Given the description of an element on the screen output the (x, y) to click on. 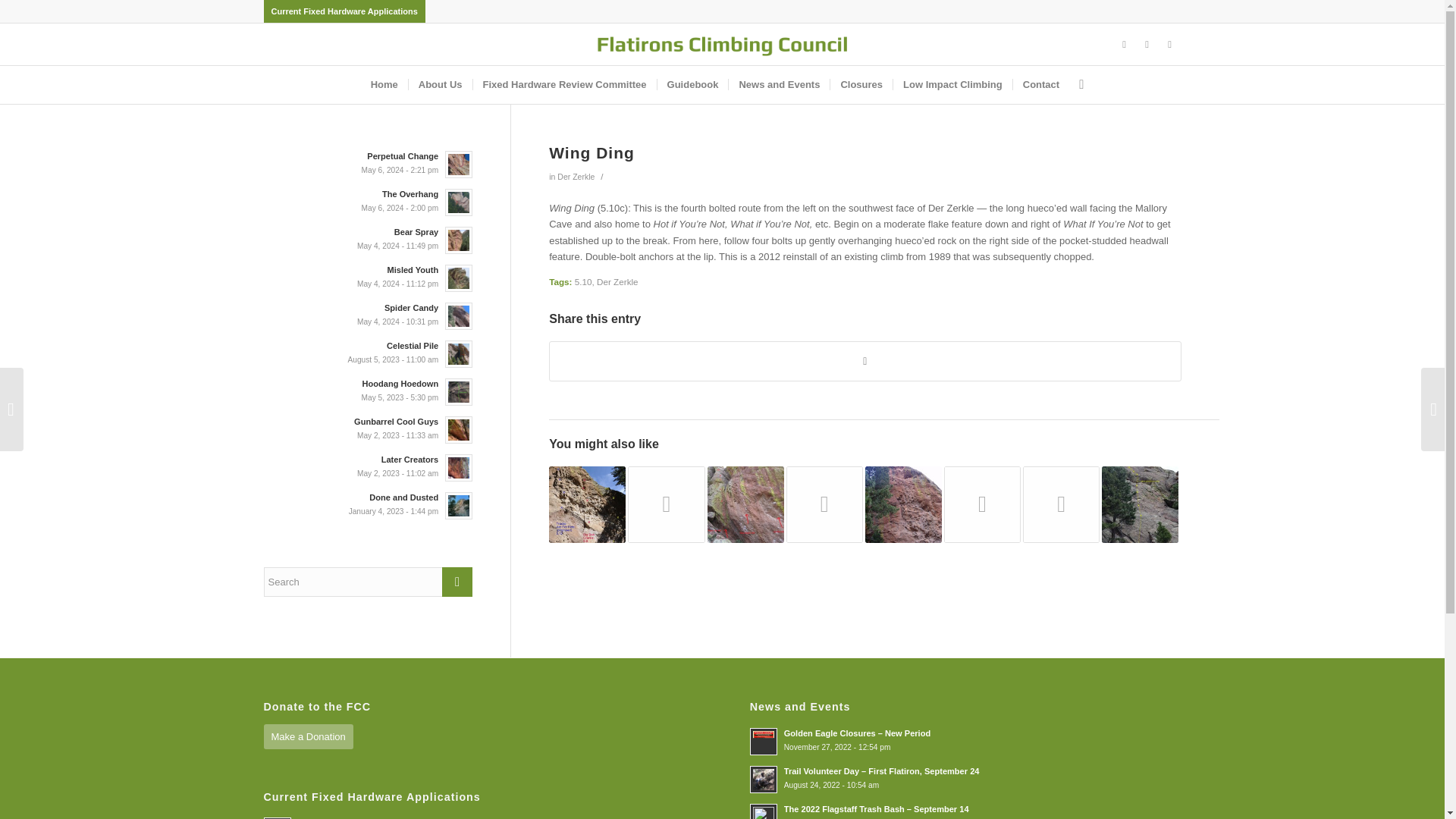
Facebook (1124, 44)
Triceratops Tracks (587, 504)
The Handy Warmup (745, 504)
Guidebook (692, 85)
Current Fixed Hardware Applications (343, 11)
About Us (439, 85)
Mail (1169, 44)
Instagram (1146, 44)
Fixed Hardware Review Committee (563, 85)
Permanent Link: Wing Ding (591, 152)
Home (384, 85)
